Given the description of an element on the screen output the (x, y) to click on. 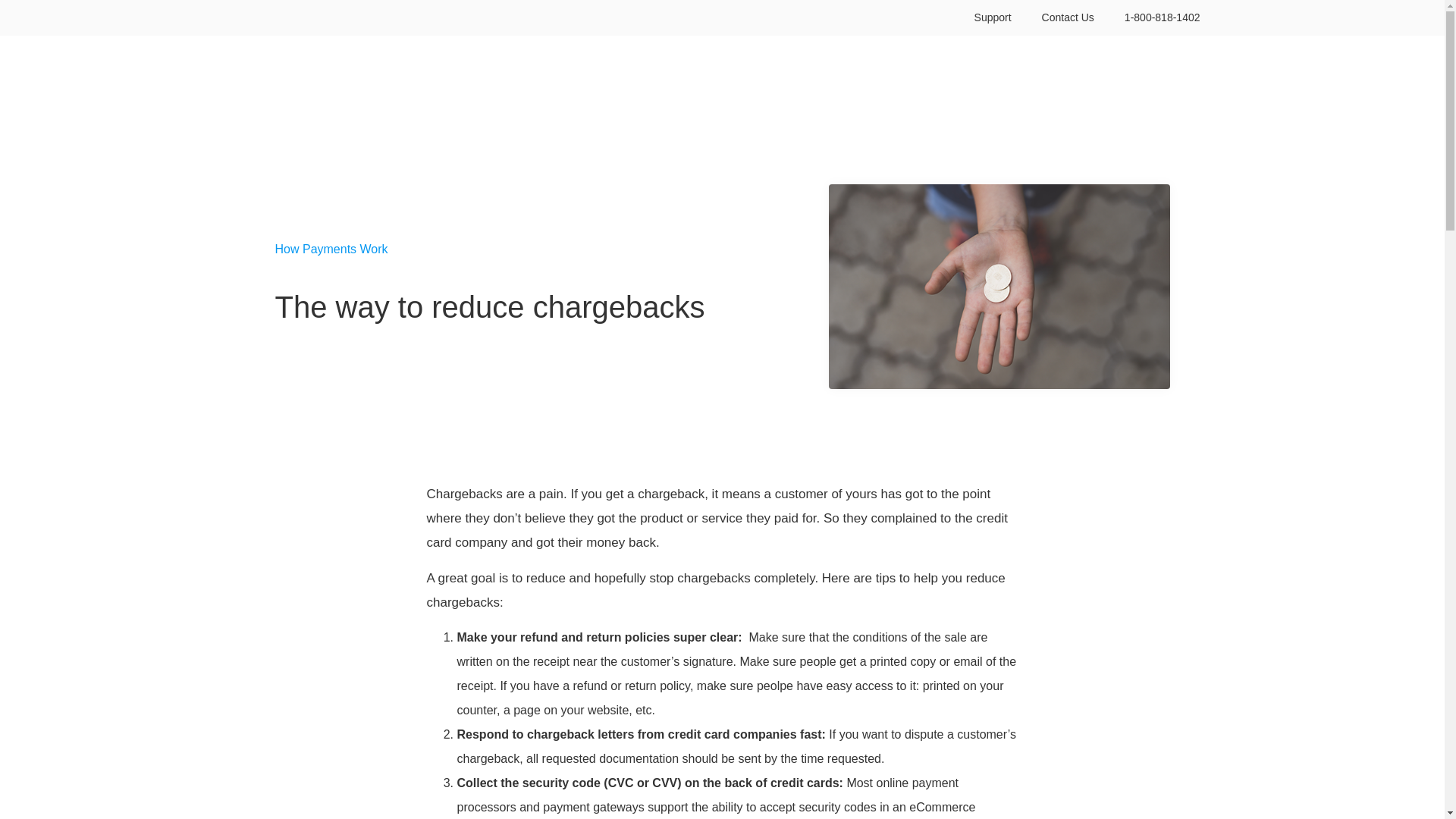
1-800-818-1402 (1162, 18)
Contact Us (1067, 18)
Support (992, 18)
